Given the description of an element on the screen output the (x, y) to click on. 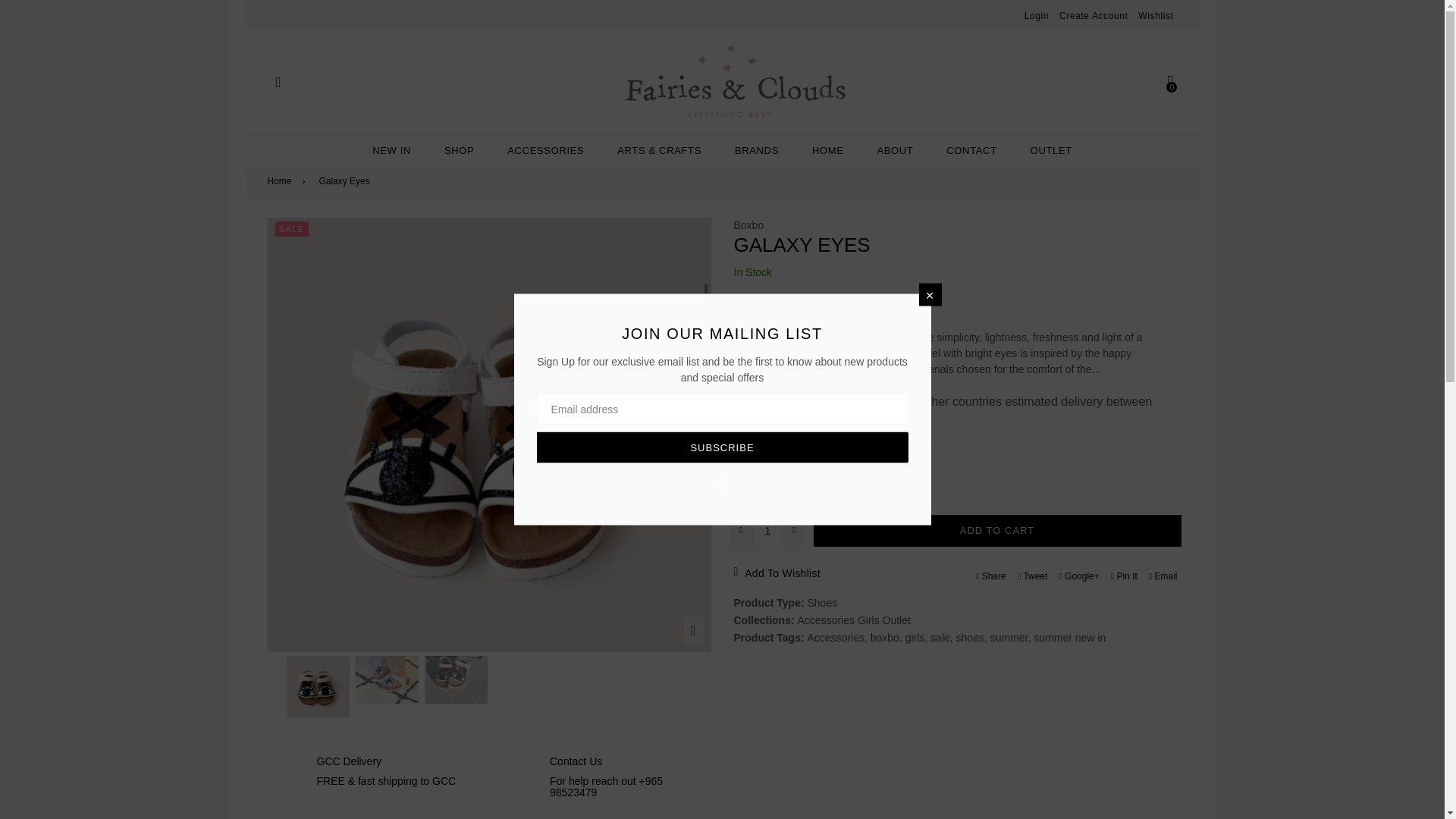
HOME (827, 150)
Boxbo (748, 224)
CONTACT (971, 150)
Pin on Pinterest (1123, 575)
SHOP (459, 150)
Share by Email (1162, 575)
24 (747, 490)
Back to the home page (281, 181)
1 (767, 531)
BRANDS (756, 150)
Share on Facebook (991, 575)
Wishlist (1155, 15)
NEW IN (391, 150)
25 (779, 490)
26 (810, 490)
